Given the description of an element on the screen output the (x, y) to click on. 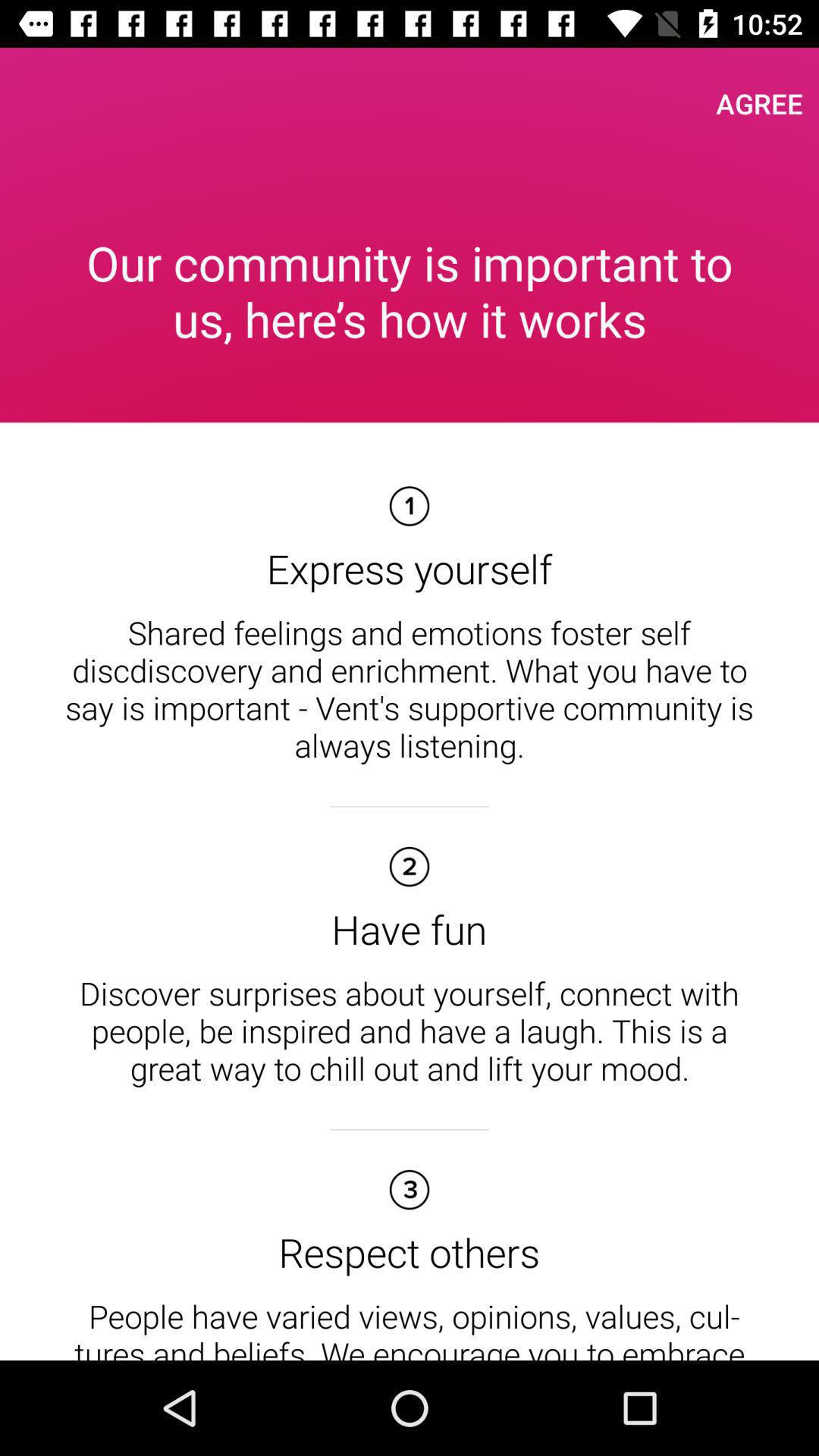
jump to the agree icon (759, 103)
